Given the description of an element on the screen output the (x, y) to click on. 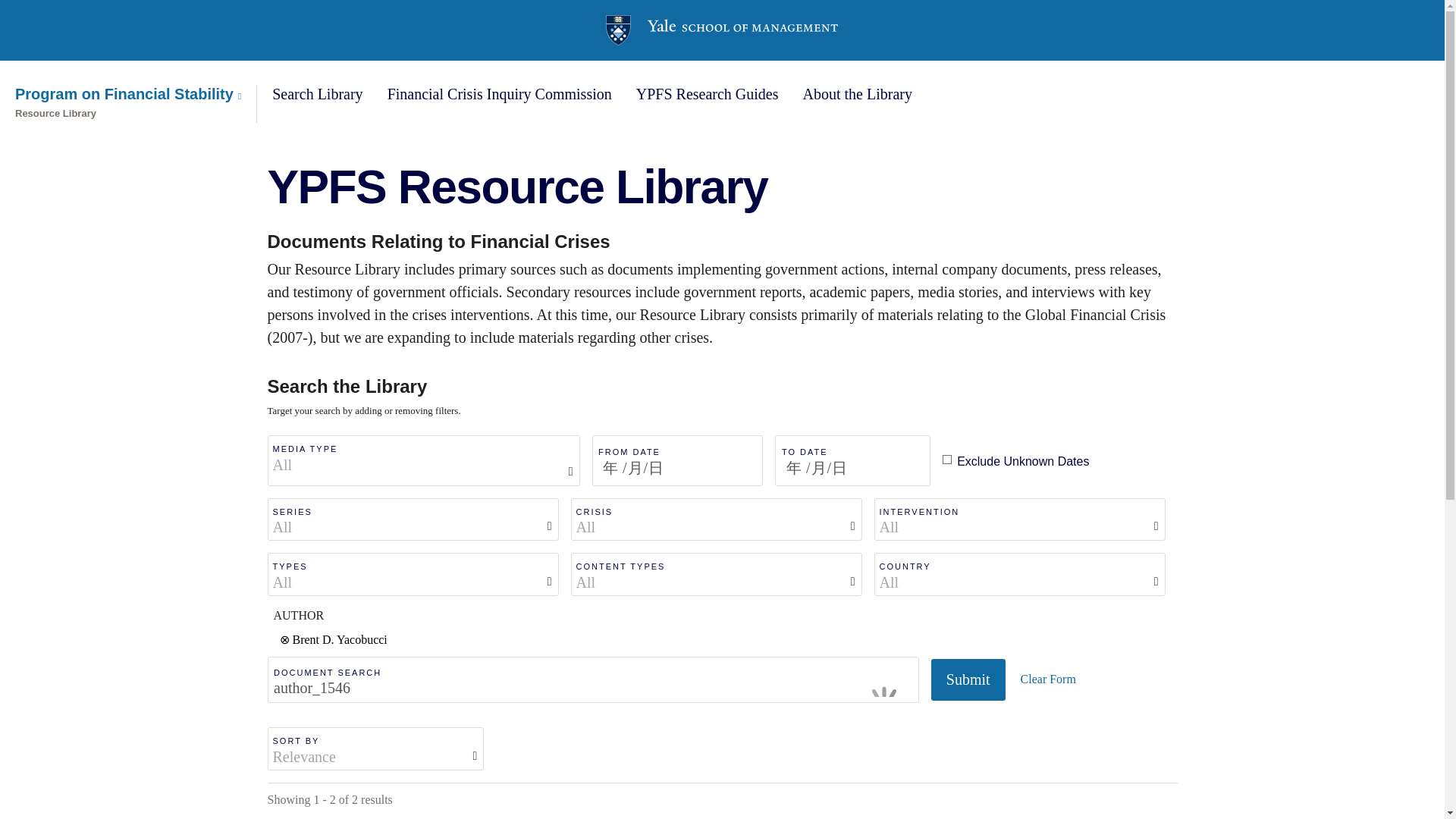
Financial Crisis Inquiry Commission (499, 93)
Submit (968, 680)
Home (721, 30)
Submit (968, 680)
Clear Form (1048, 679)
Clear Form (1048, 679)
About the Library (857, 93)
Search Library (317, 93)
Submit (968, 680)
YPFS Research Guides (707, 93)
Program on Financial Stability (127, 93)
